Given the description of an element on the screen output the (x, y) to click on. 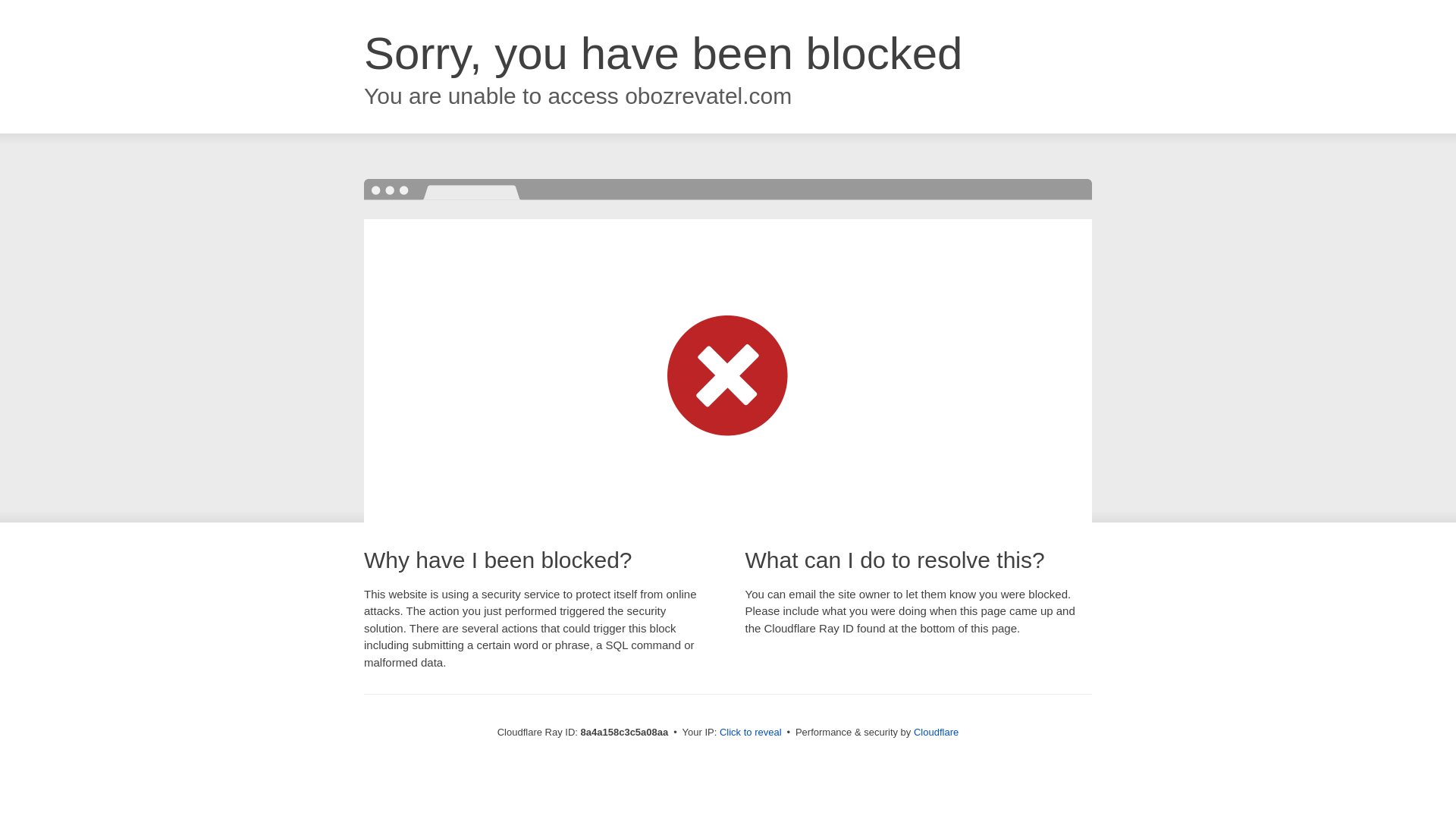
Cloudflare (936, 731)
Click to reveal (750, 732)
